Given the description of an element on the screen output the (x, y) to click on. 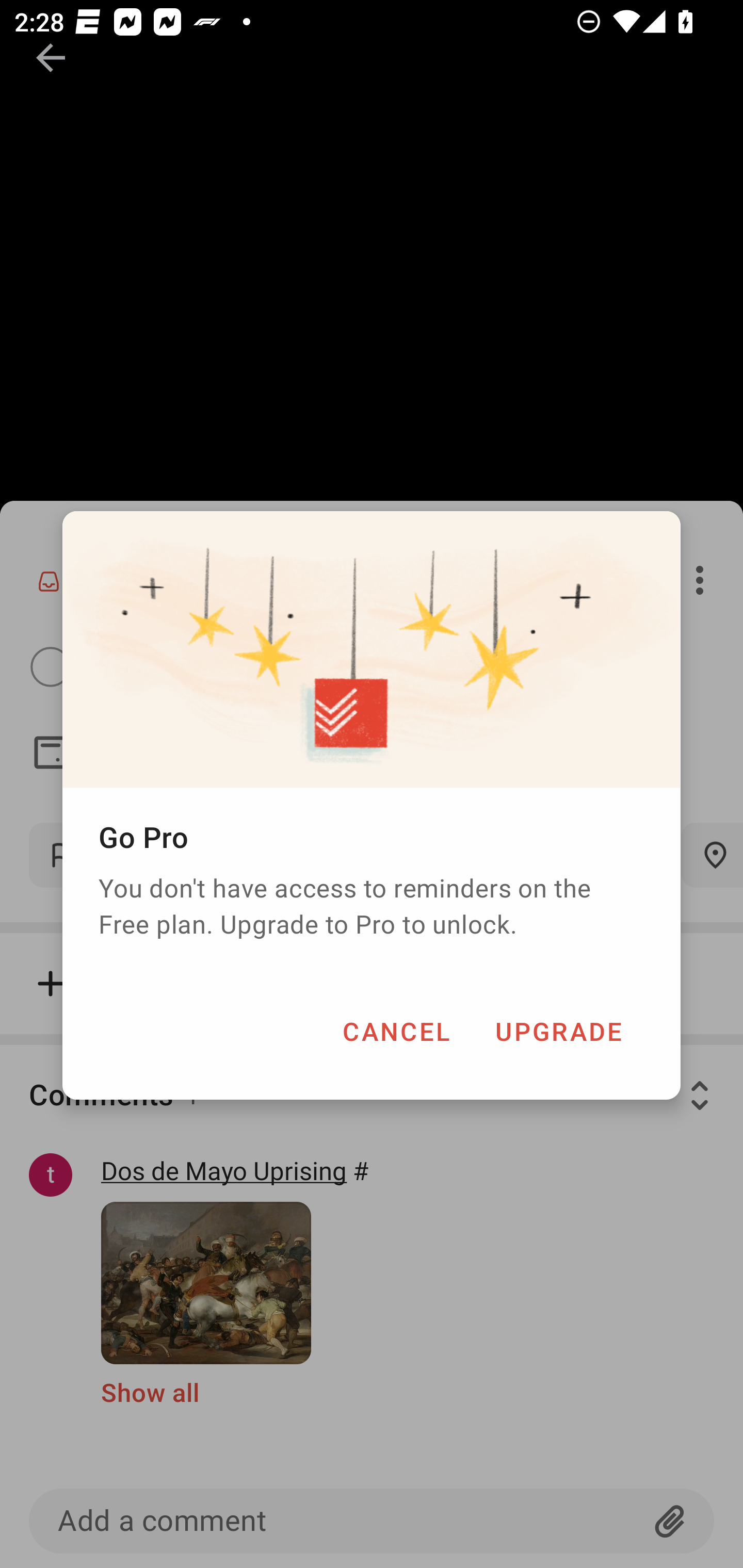
CANCEL (395, 1030)
UPGRADE (558, 1030)
